Given the description of an element on the screen output the (x, y) to click on. 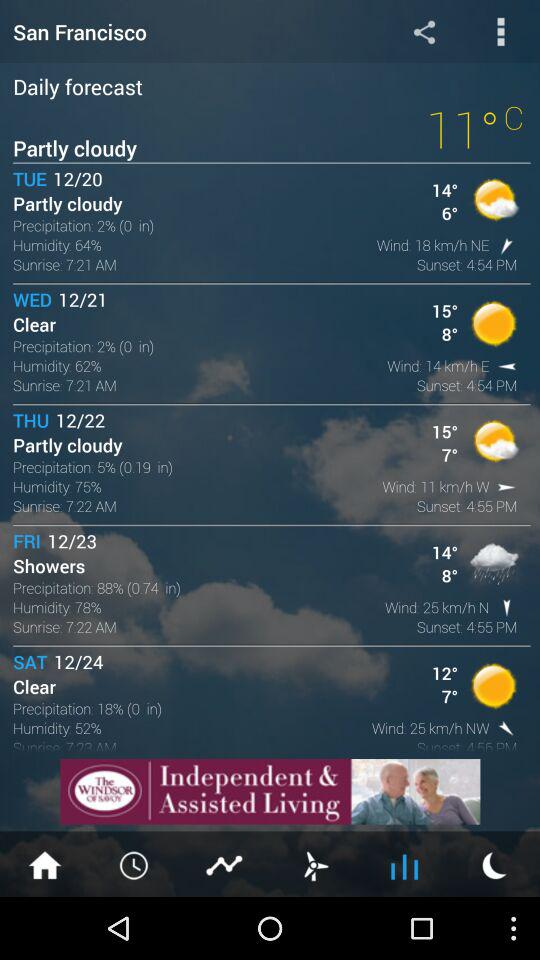
view hourly (135, 864)
